Given the description of an element on the screen output the (x, y) to click on. 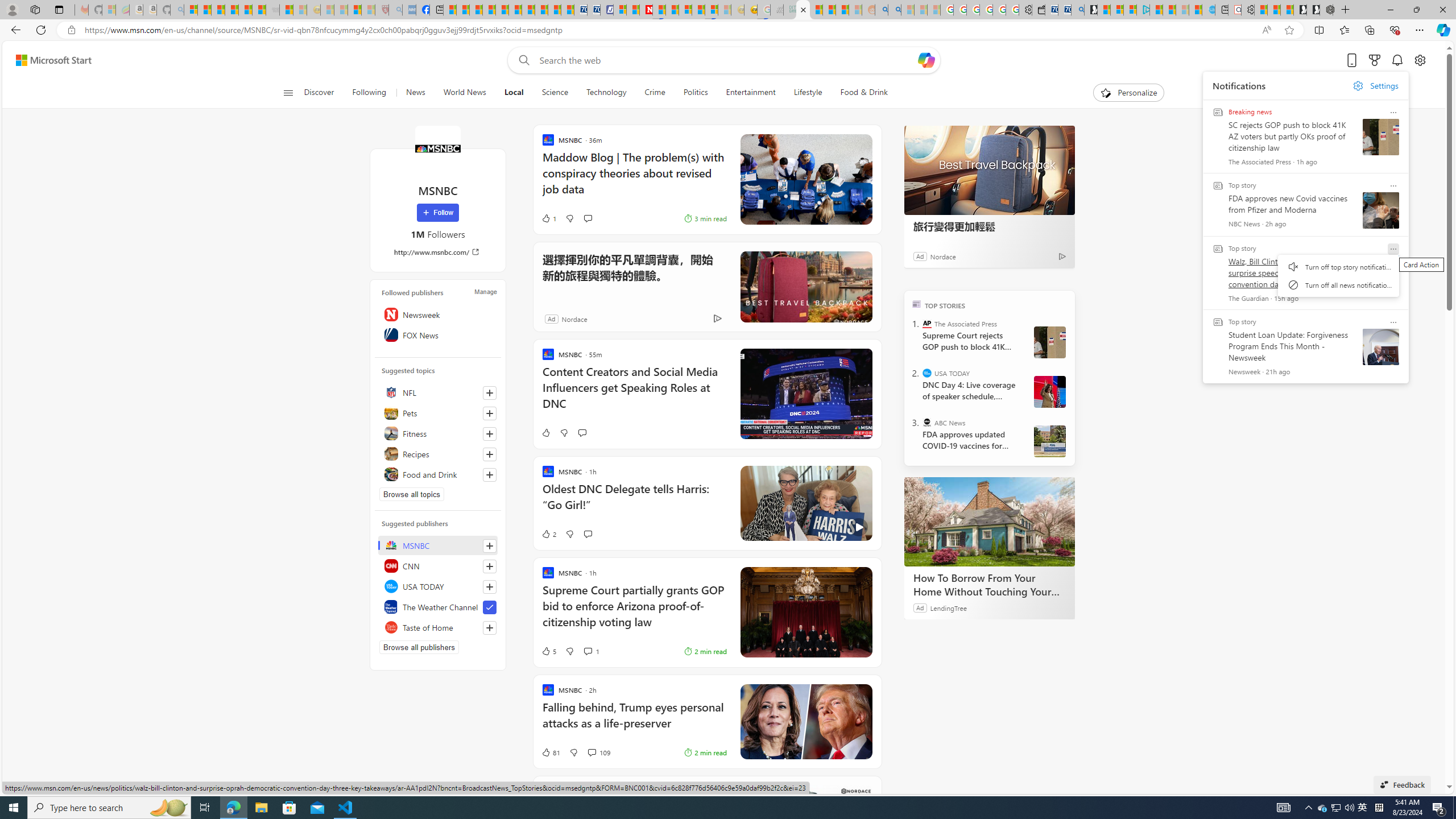
Wallet (1037, 9)
Food and Drink (437, 474)
2 Like (547, 533)
Utah sues federal government - Search (894, 9)
